Given the description of an element on the screen output the (x, y) to click on. 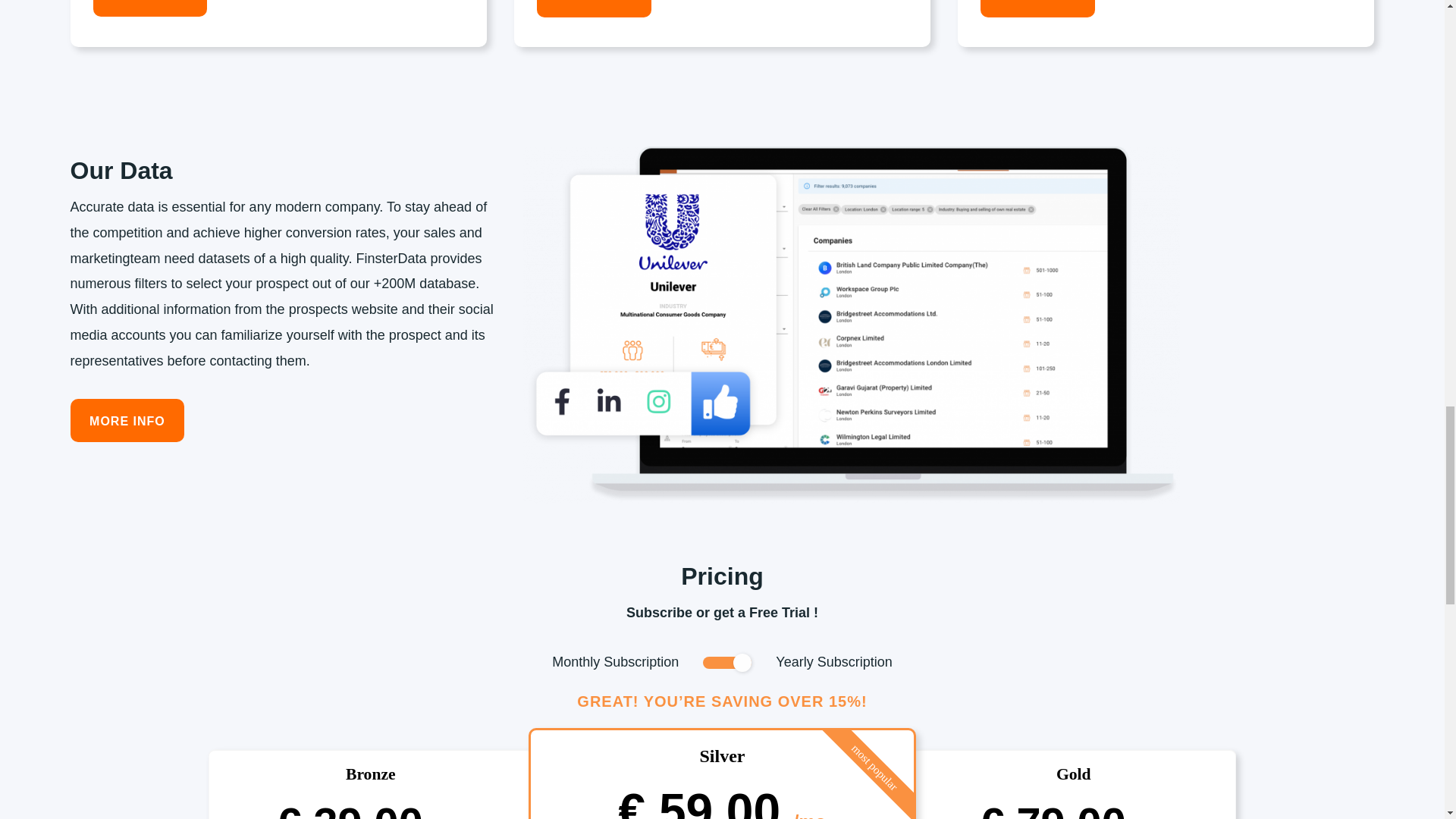
MORE INFO (149, 8)
MORE INFO (593, 8)
MORE INFO (126, 420)
MORE INFO (1036, 8)
